Given the description of an element on the screen output the (x, y) to click on. 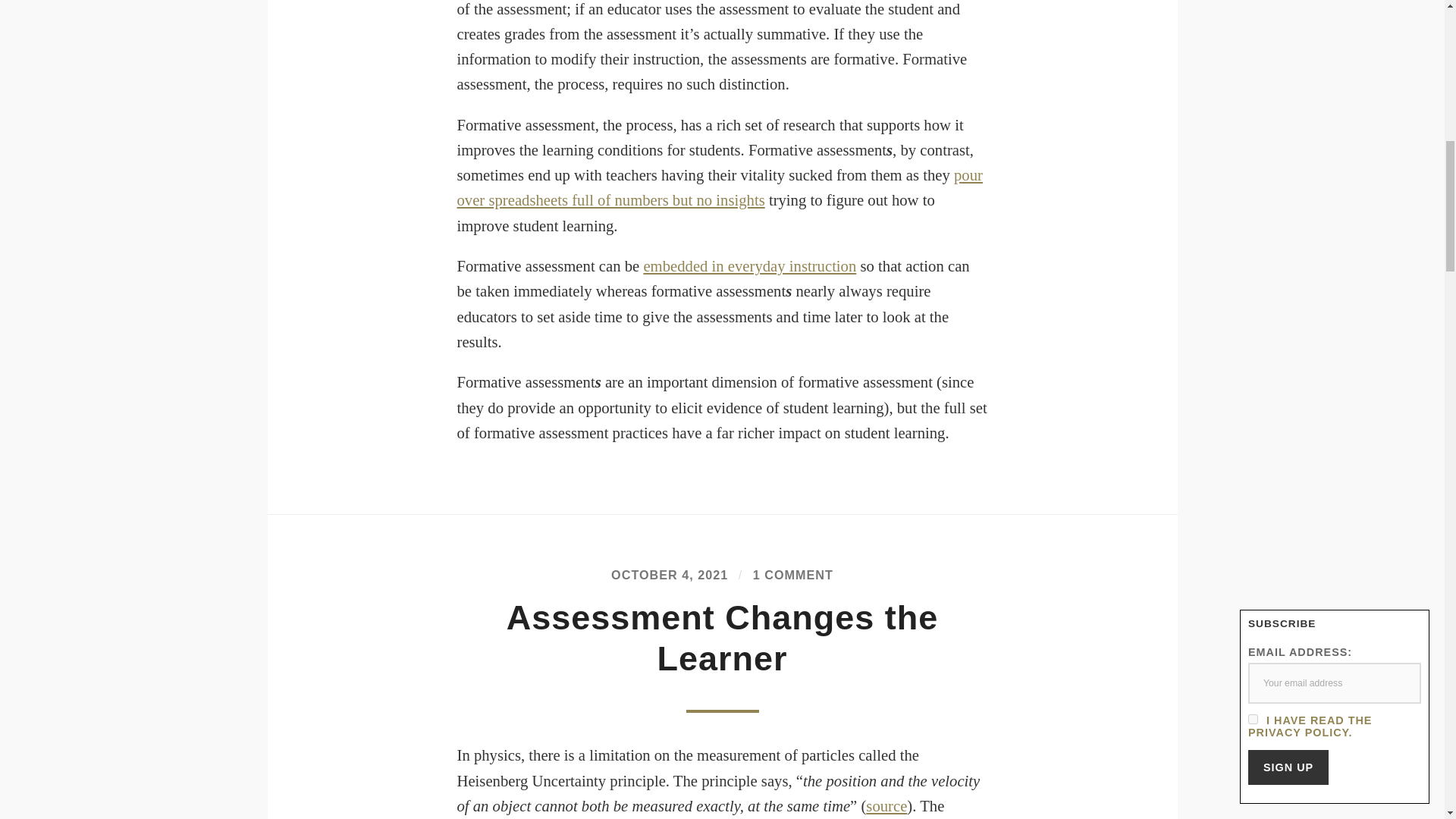
source (886, 805)
pour over spreadsheets full of numbers but no insights (719, 187)
Assessment Changes the Learner (722, 638)
embedded in everyday instruction (749, 265)
1 COMMENT (792, 574)
OCTOBER 4, 2021 (669, 574)
